Given the description of an element on the screen output the (x, y) to click on. 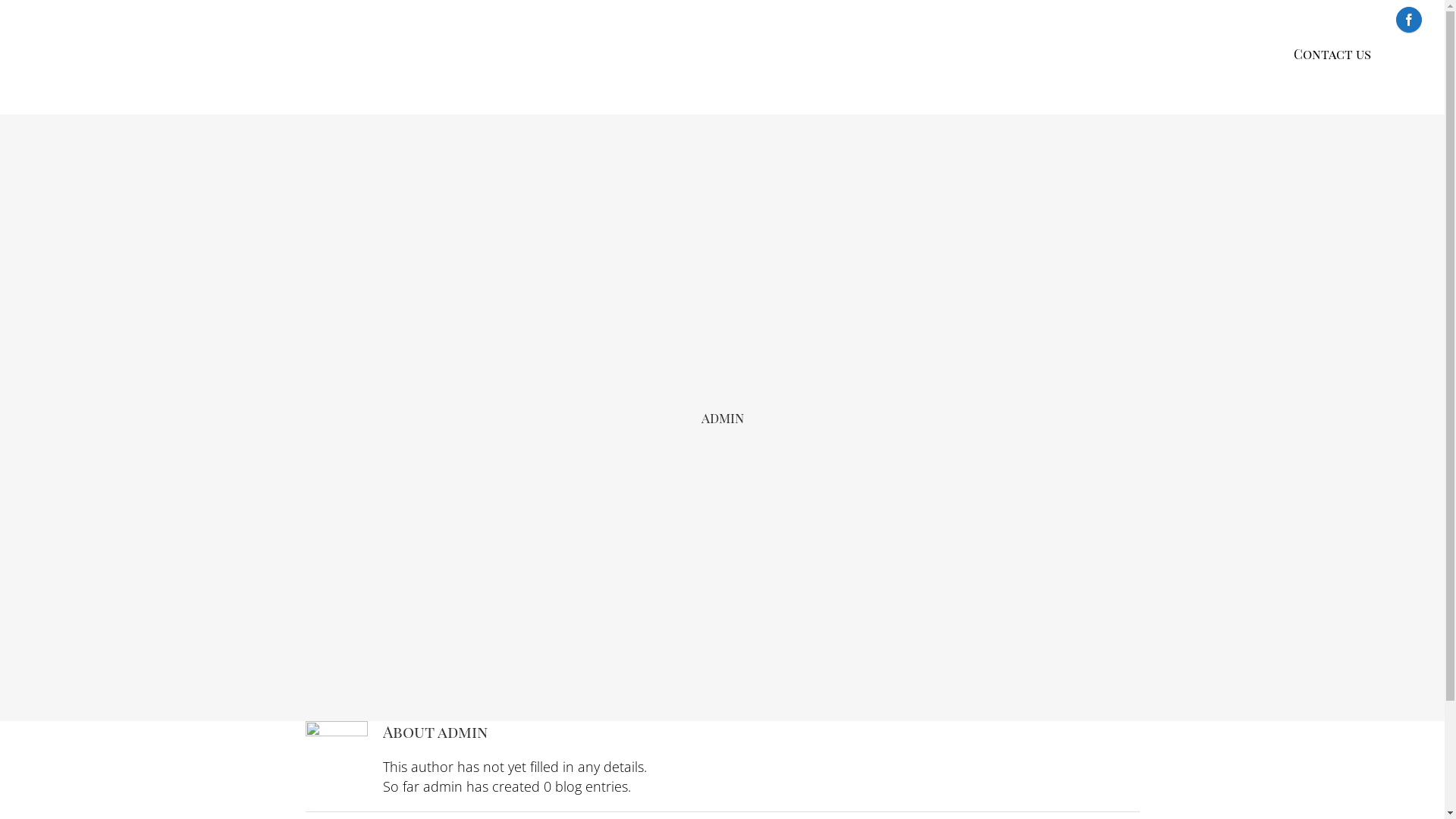
Menu Element type: text (1195, 53)
Home Element type: text (811, 53)
Gallery Element type: text (1110, 53)
03 9484 3144 Element type: text (1318, 18)
Functions Element type: text (1008, 53)
Contact us Element type: text (1331, 53)
Weddings Element type: text (901, 53)
